Given the description of an element on the screen output the (x, y) to click on. 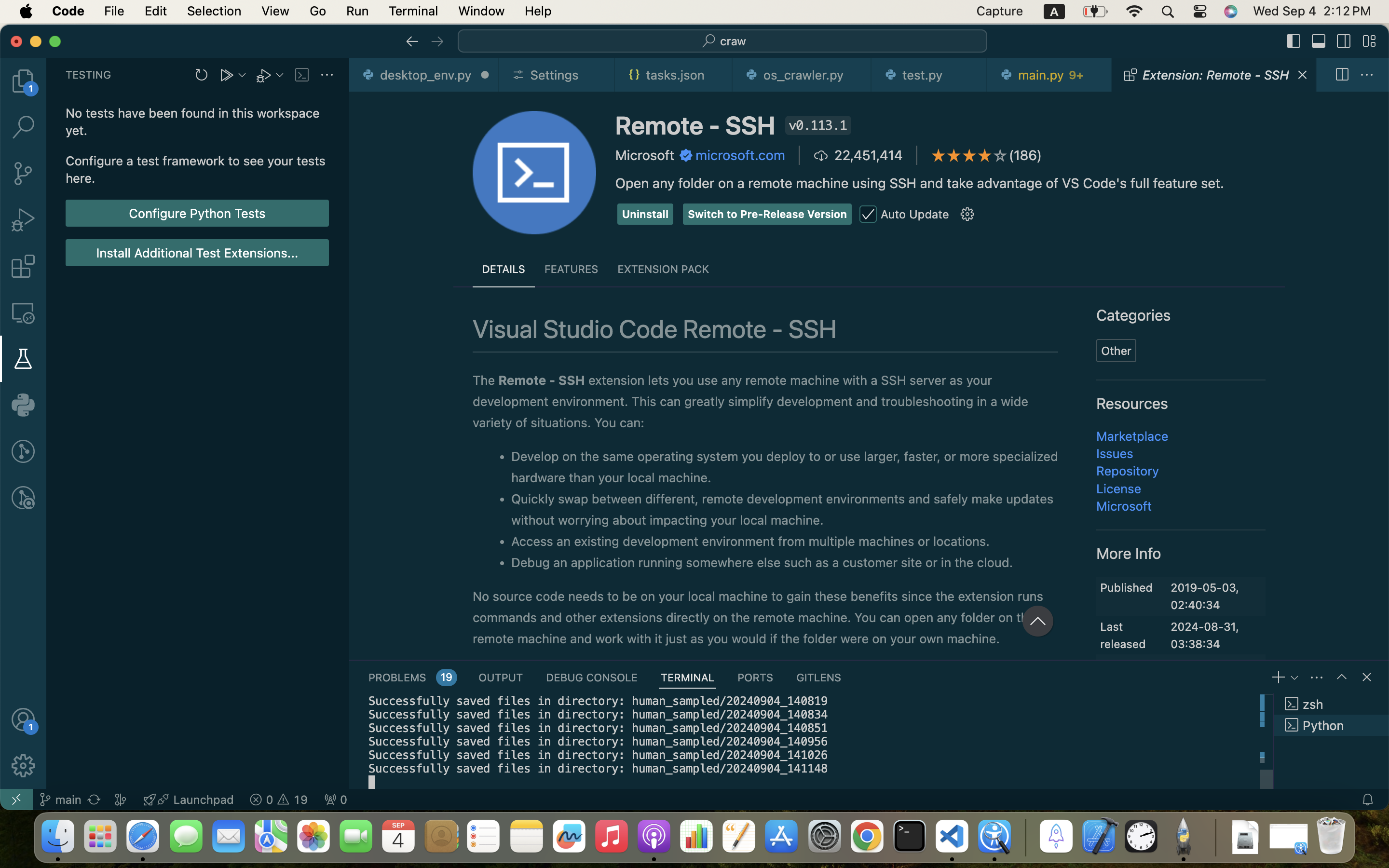
The Element type: AXStaticText (485, 380)
0 desktop_env.py   Element type: AXRadioButton (424, 74)
19 0   Element type: AXButton (278, 799)
0  Element type: AXRadioButton (23, 173)
 Element type: AXGroup (23, 719)
